Given the description of an element on the screen output the (x, y) to click on. 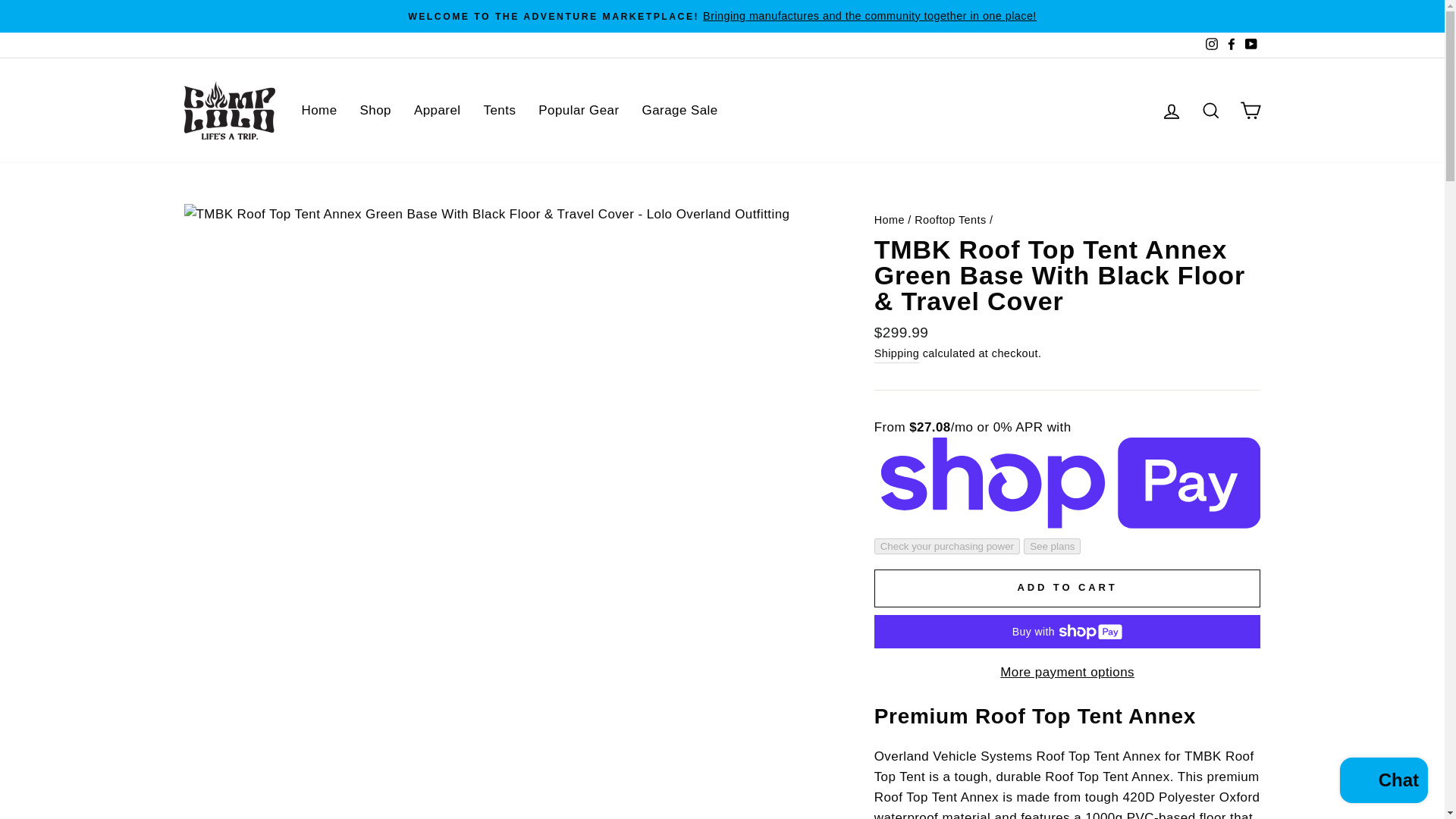
Back to the frontpage (889, 219)
Shopify online store chat (1383, 781)
